Given the description of an element on the screen output the (x, y) to click on. 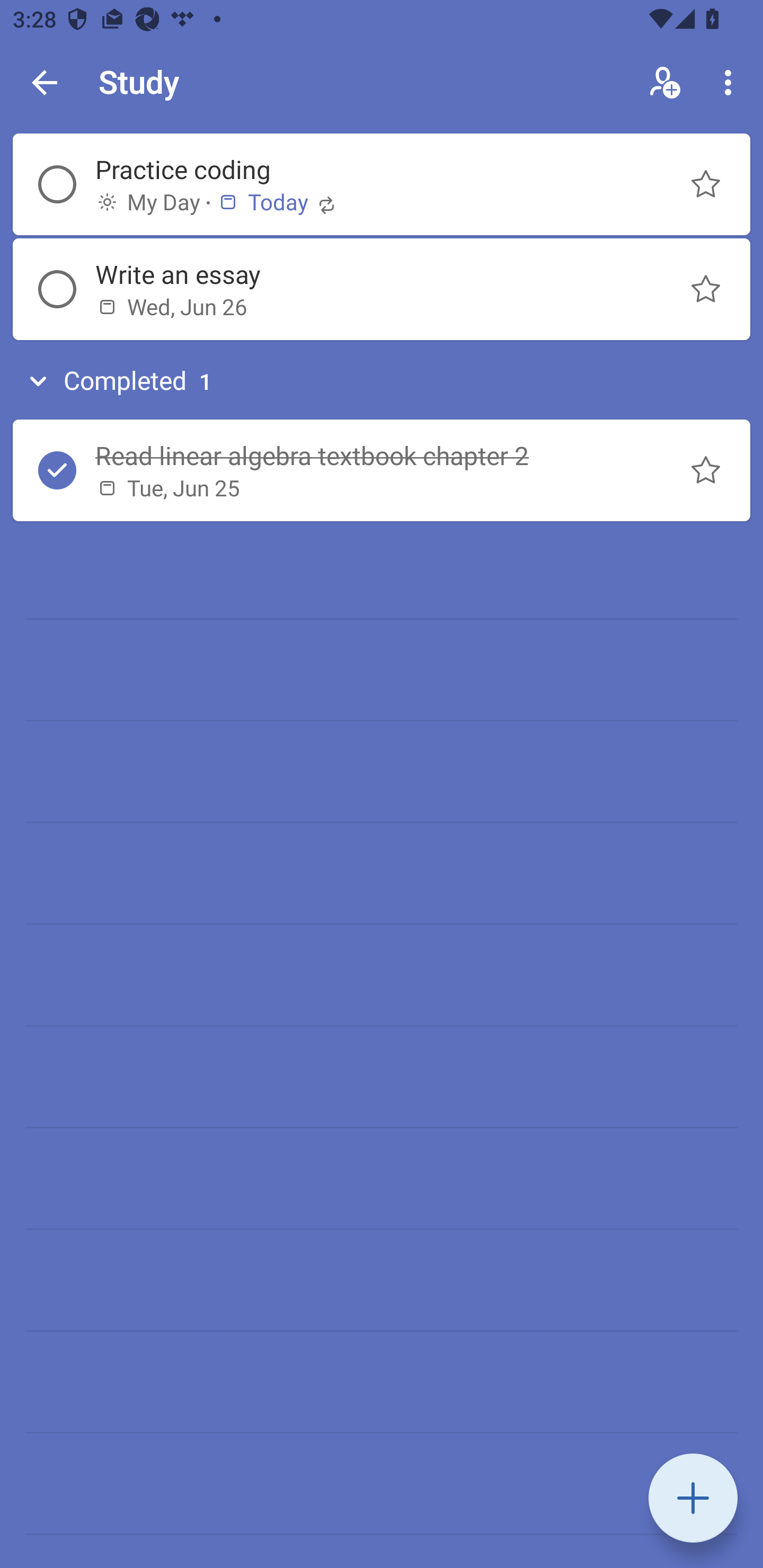
Normal task Practice coding, Button (705, 183)
